Given the description of an element on the screen output the (x, y) to click on. 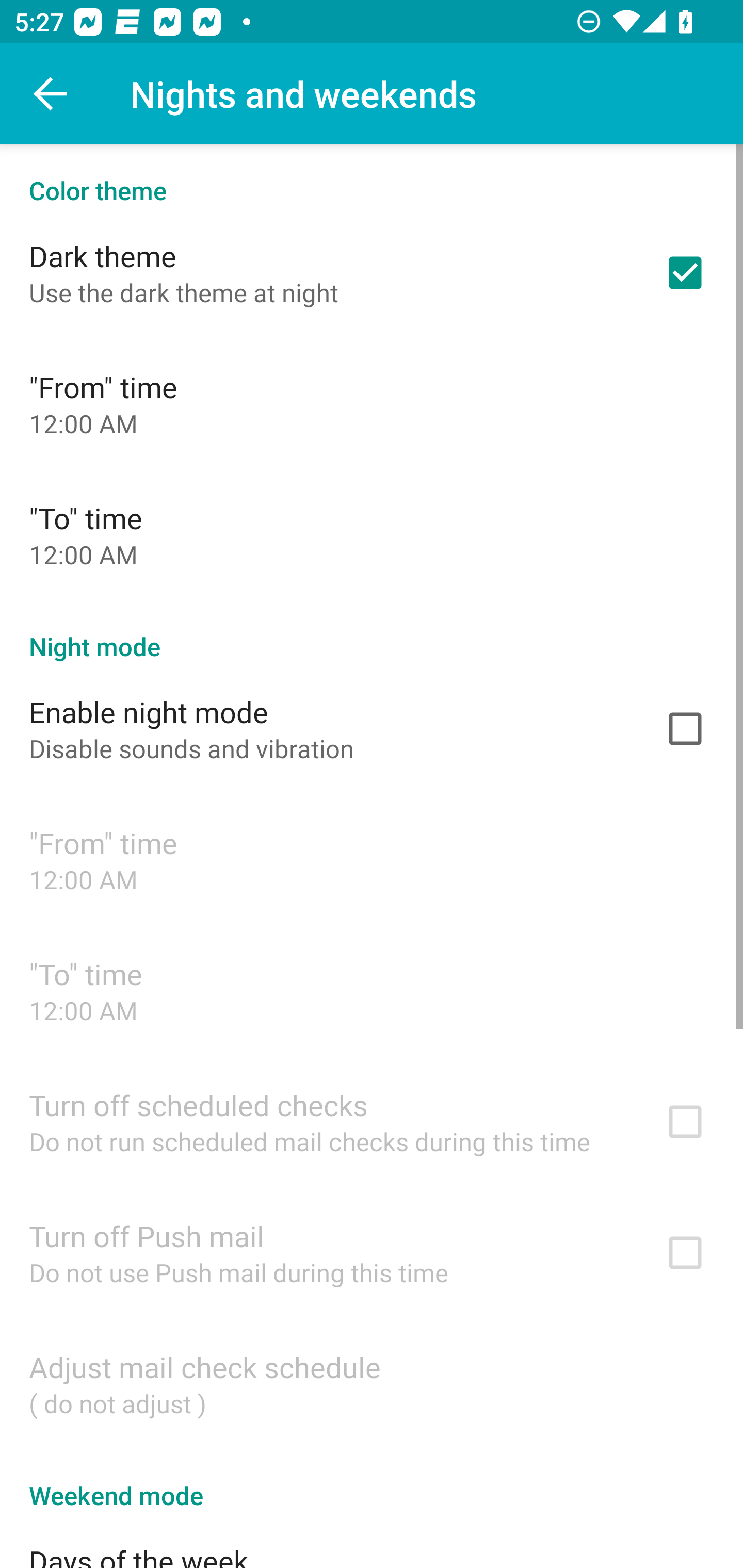
Navigate up (50, 93)
Dark theme Use the dark theme at night (371, 272)
"From" time 12:00 AM (371, 403)
"To" time 12:00 AM (371, 534)
Enable night mode Disable sounds and vibration (371, 728)
"From" time 12:00 AM (371, 859)
"To" time 12:00 AM (371, 990)
Adjust mail check schedule ( do not adjust ) (371, 1383)
